Given the description of an element on the screen output the (x, y) to click on. 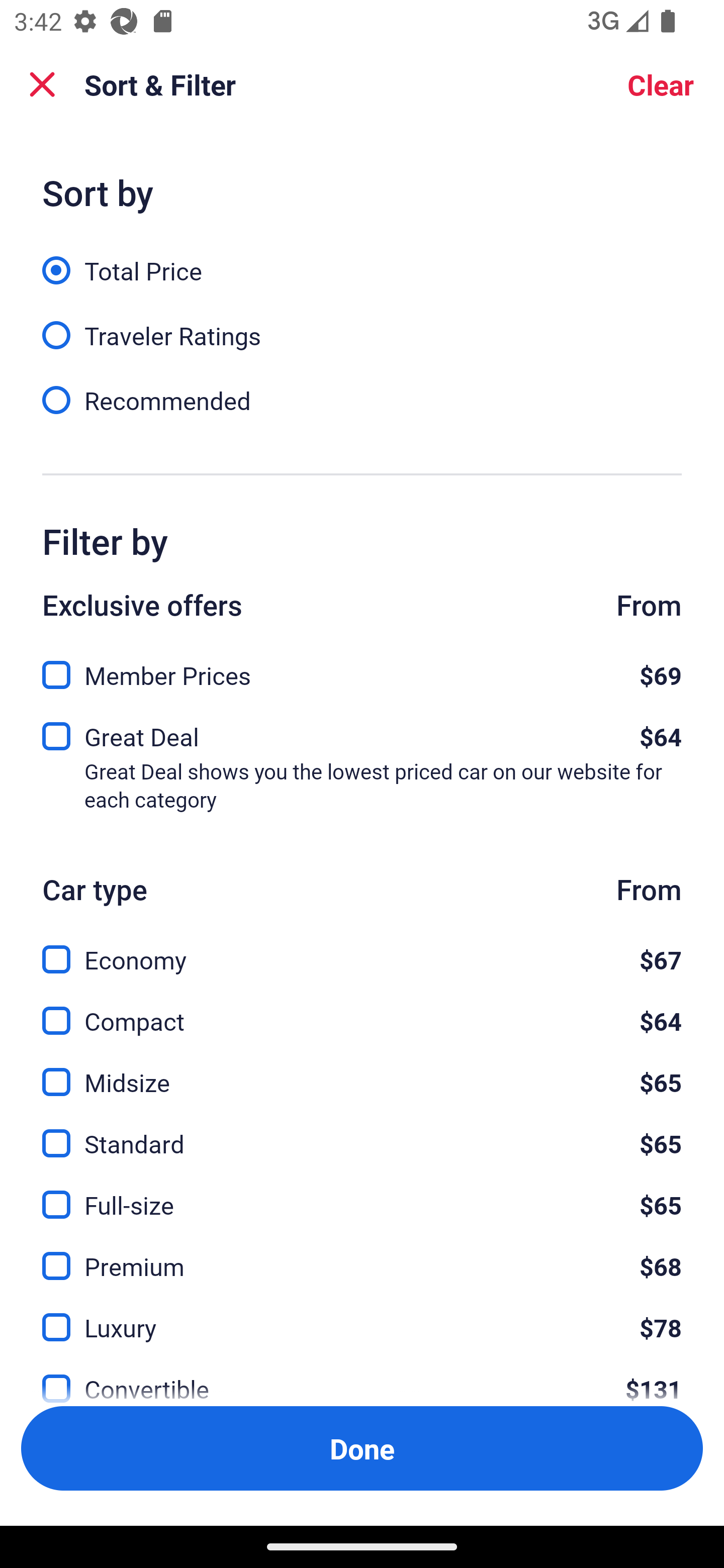
Close Sort and Filter (42, 84)
Clear (660, 84)
Traveler Ratings (361, 324)
Recommended (361, 398)
Member Prices, $69 Member Prices $69 (361, 669)
Economy, $67 Economy $67 (361, 947)
Compact, $64 Compact $64 (361, 1008)
Midsize, $65 Midsize $65 (361, 1070)
Standard, $65 Standard $65 (361, 1132)
Full-size, $65 Full-size $65 (361, 1193)
Premium, $68 Premium $68 (361, 1254)
Luxury, $78 Luxury $78 (361, 1315)
Convertible, $131 Convertible $131 (361, 1376)
Apply and close Sort and Filter Done (361, 1448)
